Given the description of an element on the screen output the (x, y) to click on. 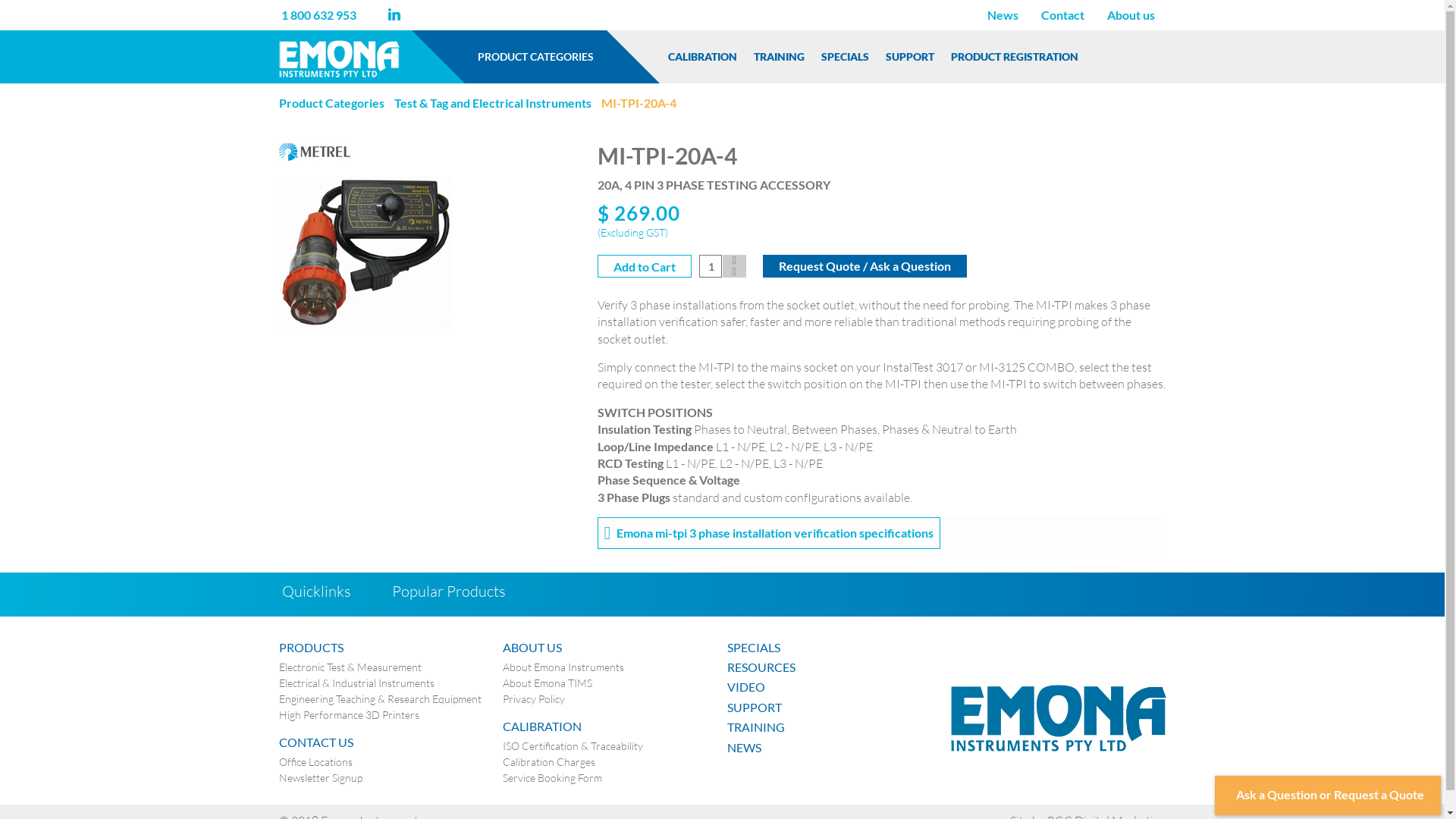
CONTACT US Element type: text (384, 742)
CALIBRATION Element type: text (702, 56)
Privacy Policy Element type: text (533, 698)
Product Categories Element type: text (331, 102)
About Emona Instruments Element type: text (563, 666)
Calibration Charges Element type: text (548, 761)
Add to Cart Element type: hover (644, 265)
Show Cart Element type: hover (1122, 55)
News Element type: text (1002, 15)
NEWS Element type: text (832, 747)
Electrical & Industrial Instruments Element type: text (356, 682)
Metrel Element type: hover (315, 149)
Add to Cart Element type: text (644, 265)
About us Element type: text (1130, 15)
EMONA INSTRUMENTS PTY LTD Element type: hover (1058, 716)
RESOURCES Element type: text (832, 666)
TRAINING Element type: text (779, 56)
PRODUCTS Element type: text (384, 647)
ABOUT US Element type: text (607, 647)
Electronic Test & Measurement Element type: text (350, 666)
About Emona TIMS Element type: text (547, 682)
VIDEO Element type: text (832, 686)
1 800 632 953 Element type: text (317, 14)
ISO Certification & Traceability Element type: text (572, 745)
Engineering Teaching & Research Equipment Element type: text (380, 698)
Request Quote / Ask a Question Element type: text (864, 265)
Contact Element type: text (1062, 15)
  Ask a Question or Request a Quote Element type: text (1327, 795)
Service Booking Form Element type: text (552, 777)
High Performance 3D Printers Element type: text (349, 714)
SUPPORT Element type: text (909, 56)
Office Locations Element type: text (315, 761)
PRODUCT REGISTRATION Element type: text (1014, 56)
Newsletter Signup Element type: text (320, 777)
SPECIALS Element type: text (844, 56)
Test & Tag and Electrical Instruments Element type: text (492, 102)
SPECIALS Element type: text (832, 647)
SUPPORT Element type: text (832, 707)
TRAINING Element type: text (832, 726)
CALIBRATION Element type: text (607, 726)
